Given the description of an element on the screen output the (x, y) to click on. 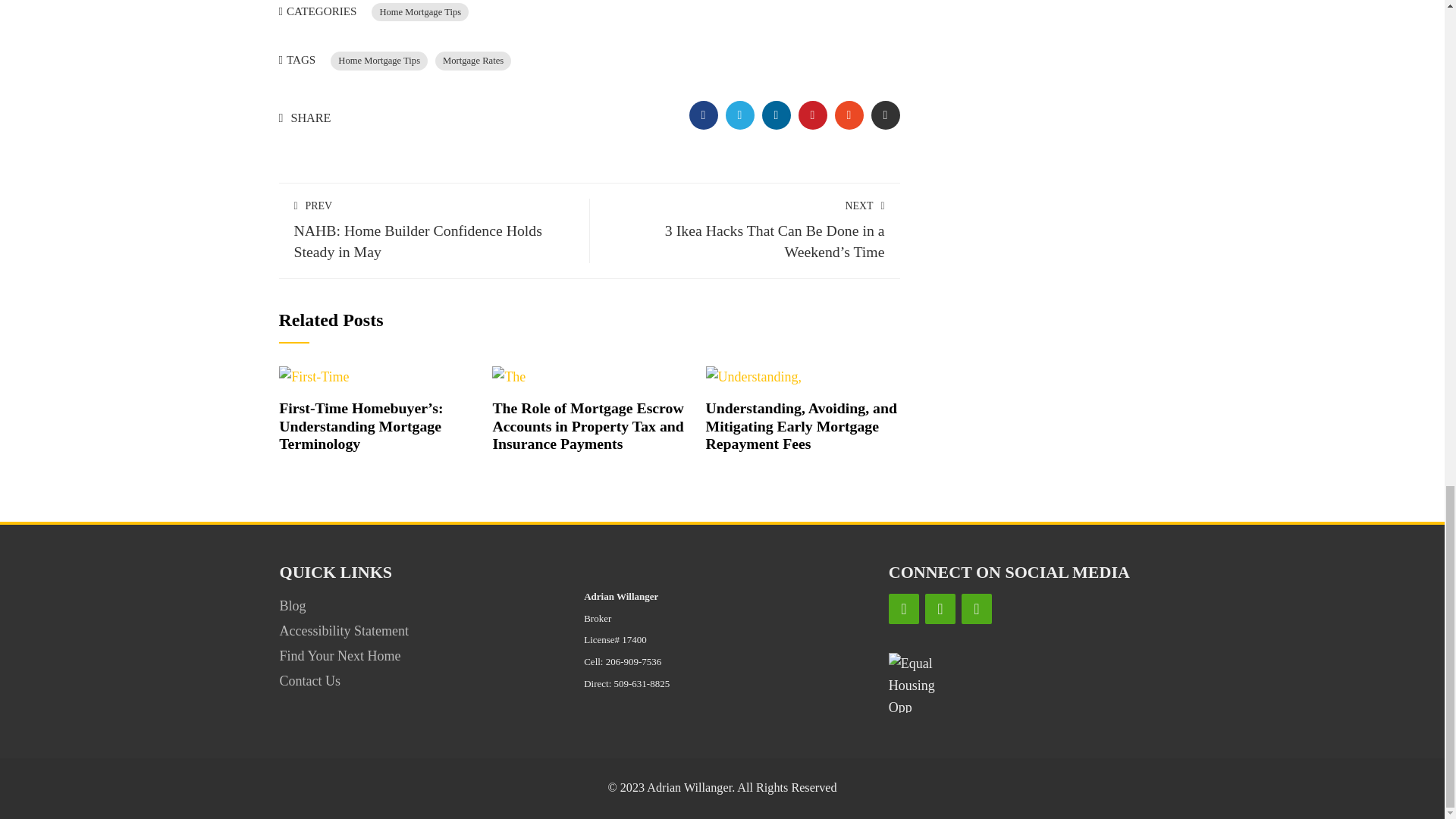
LINKEDIN (775, 114)
PINTEREST (812, 114)
TWITTER (739, 114)
LinkedIn (939, 608)
Home Mortgage Tips (379, 60)
FACEBOOK (702, 114)
Home Mortgage Tips (419, 12)
STUMBLEUPON (848, 114)
